Given the description of an element on the screen output the (x, y) to click on. 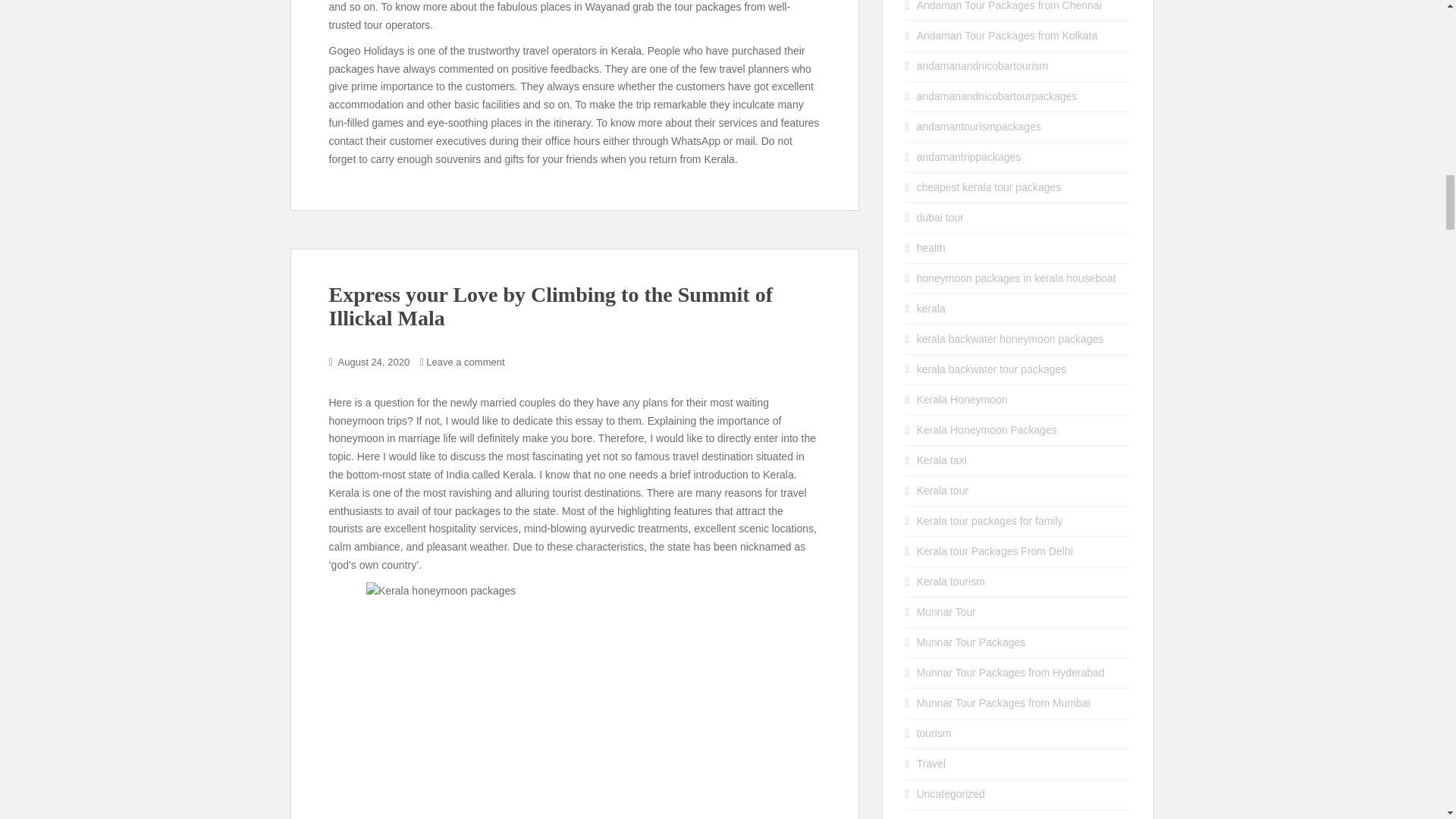
Express your Love by Climbing to the Summit of Illickal Mala (551, 306)
Illickal Kallu (574, 700)
Leave a comment (464, 361)
August 24, 2020 (373, 361)
